Given the description of an element on the screen output the (x, y) to click on. 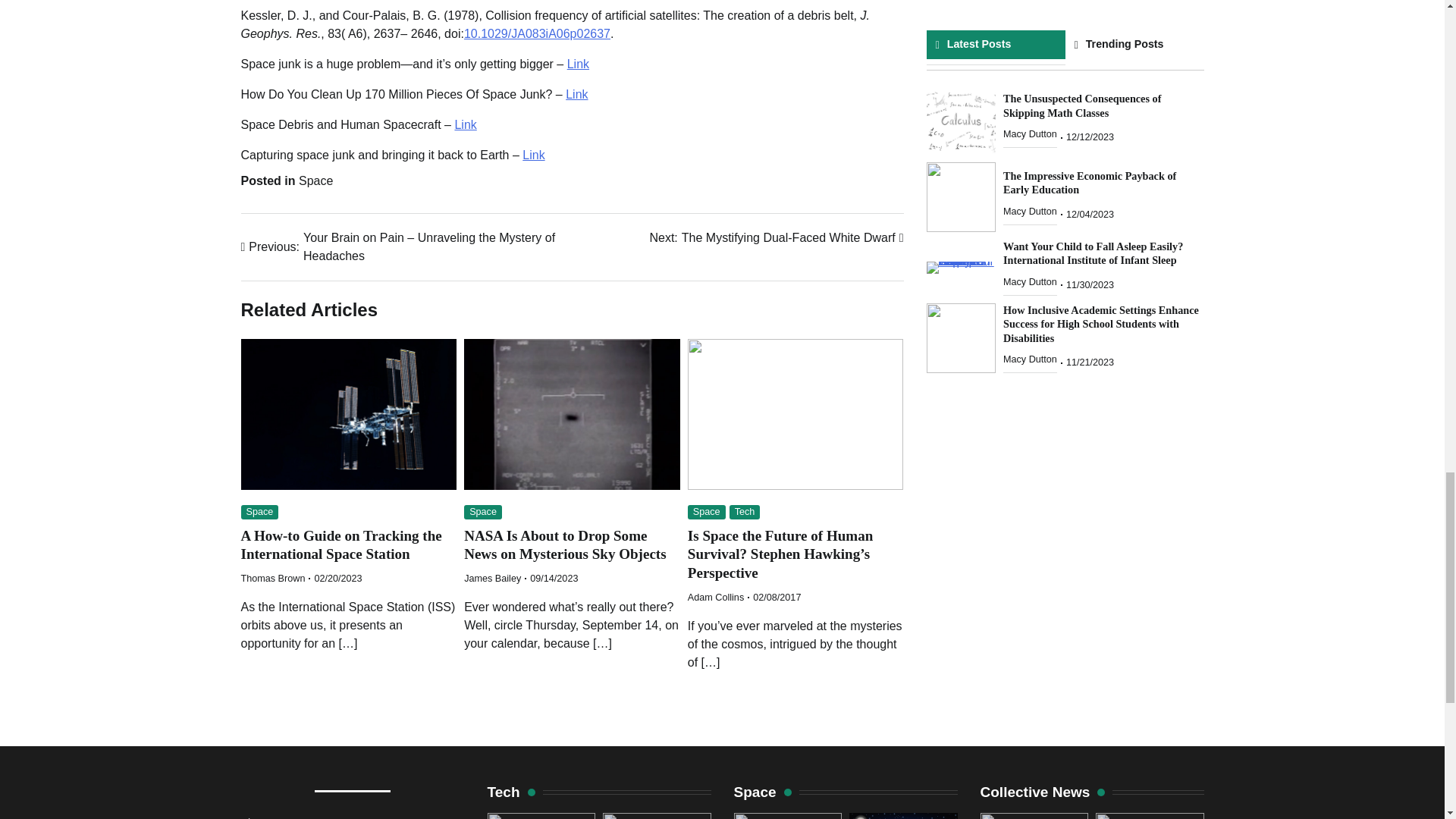
Link (775, 238)
Link (577, 93)
James Bailey (533, 154)
Tech (492, 578)
Thomas Brown (744, 512)
Space (273, 578)
Space (706, 512)
A How-to Guide on Tracking the International Space Station (260, 512)
NASA Is About to Drop Some News on Mysterious Sky Objects (341, 544)
Adam Collins (564, 544)
Link (715, 597)
Space (578, 63)
Space (315, 180)
Link (483, 512)
